Given the description of an element on the screen output the (x, y) to click on. 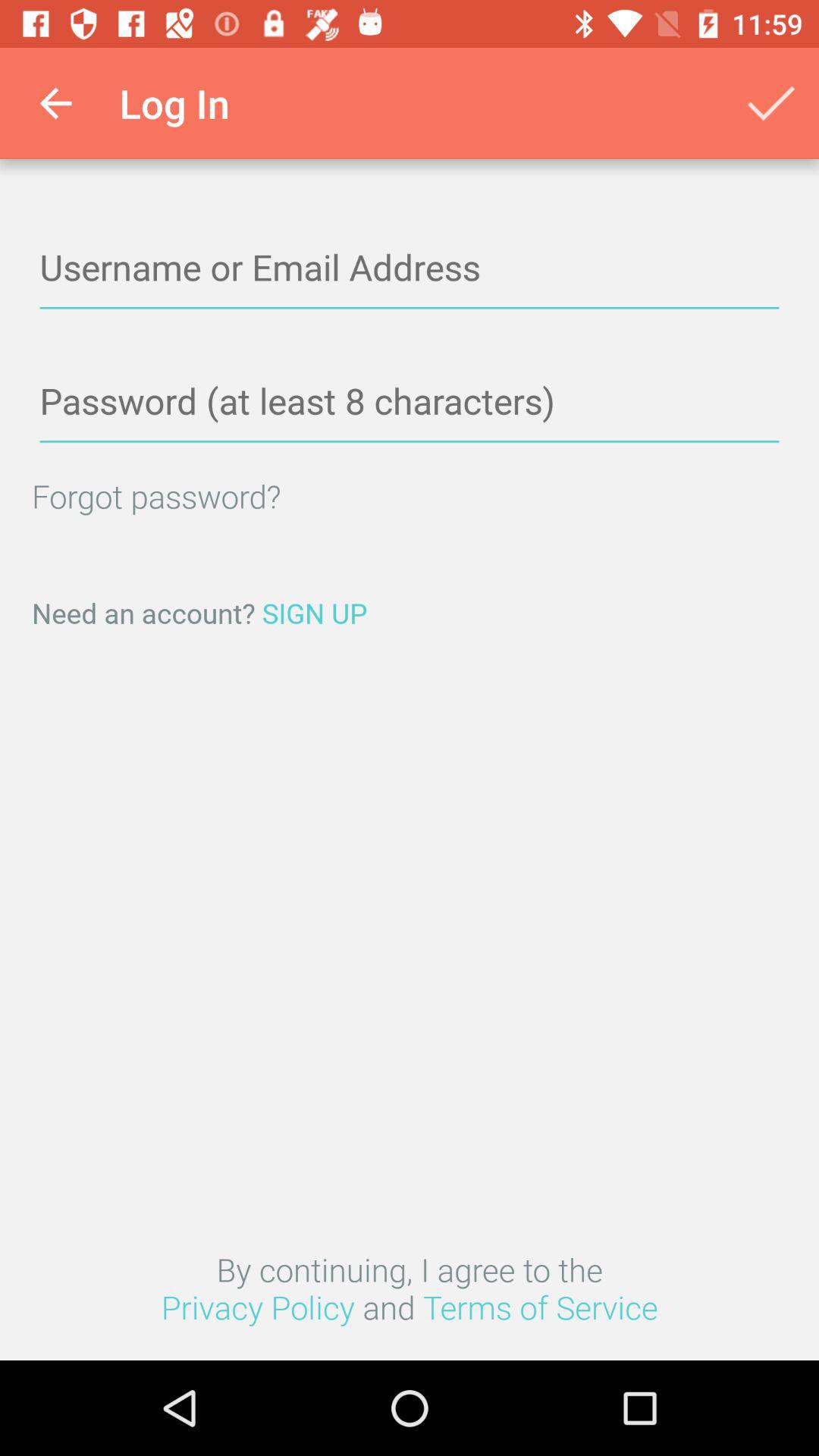
enter username or email (409, 268)
